Given the description of an element on the screen output the (x, y) to click on. 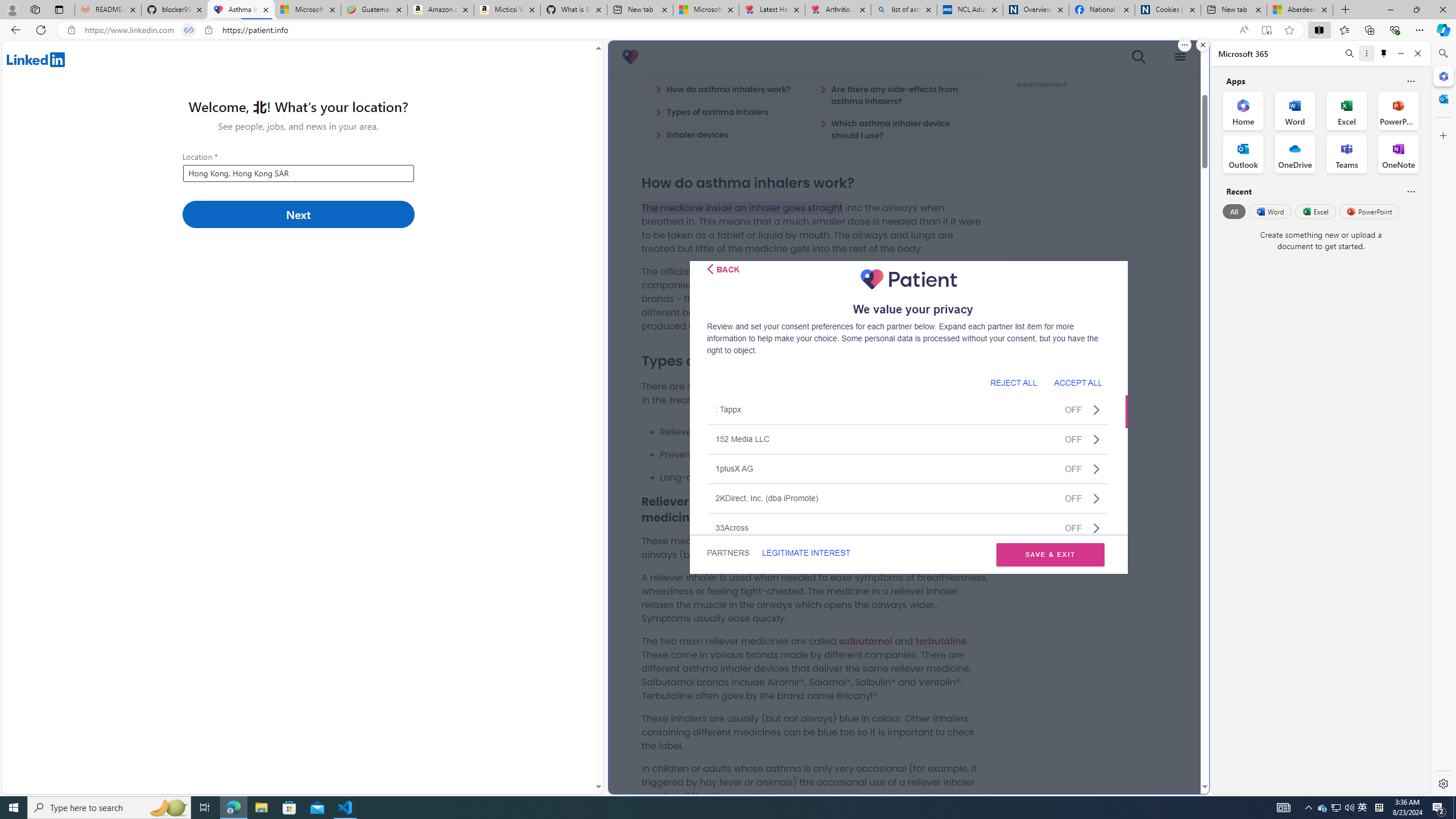
salbutamol (865, 640)
Is this helpful? (1410, 191)
Aberdeen, Hong Kong SAR hourly forecast | Microsoft Weather (1300, 9)
1plusX AGOFF (907, 468)
Excel (1315, 210)
NCL Adult Asthma Inhaler Choice Guideline (969, 9)
